Given the description of an element on the screen output the (x, y) to click on. 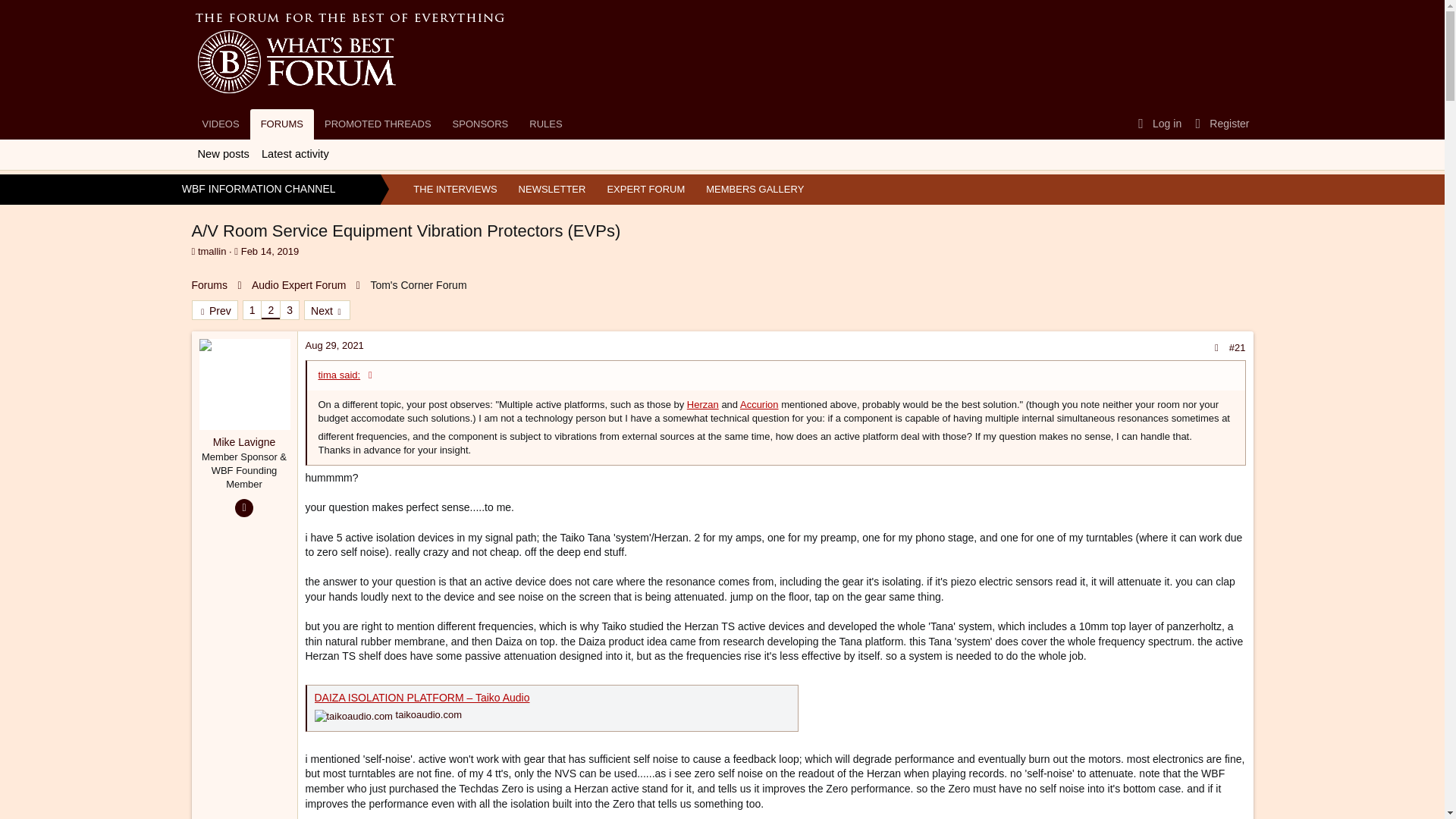
RULES (545, 123)
3 (289, 310)
SPONSORS (381, 123)
Audio Expert Forum (480, 123)
1 (298, 285)
VIDEOS (252, 310)
Register (219, 123)
